Given the description of an element on the screen output the (x, y) to click on. 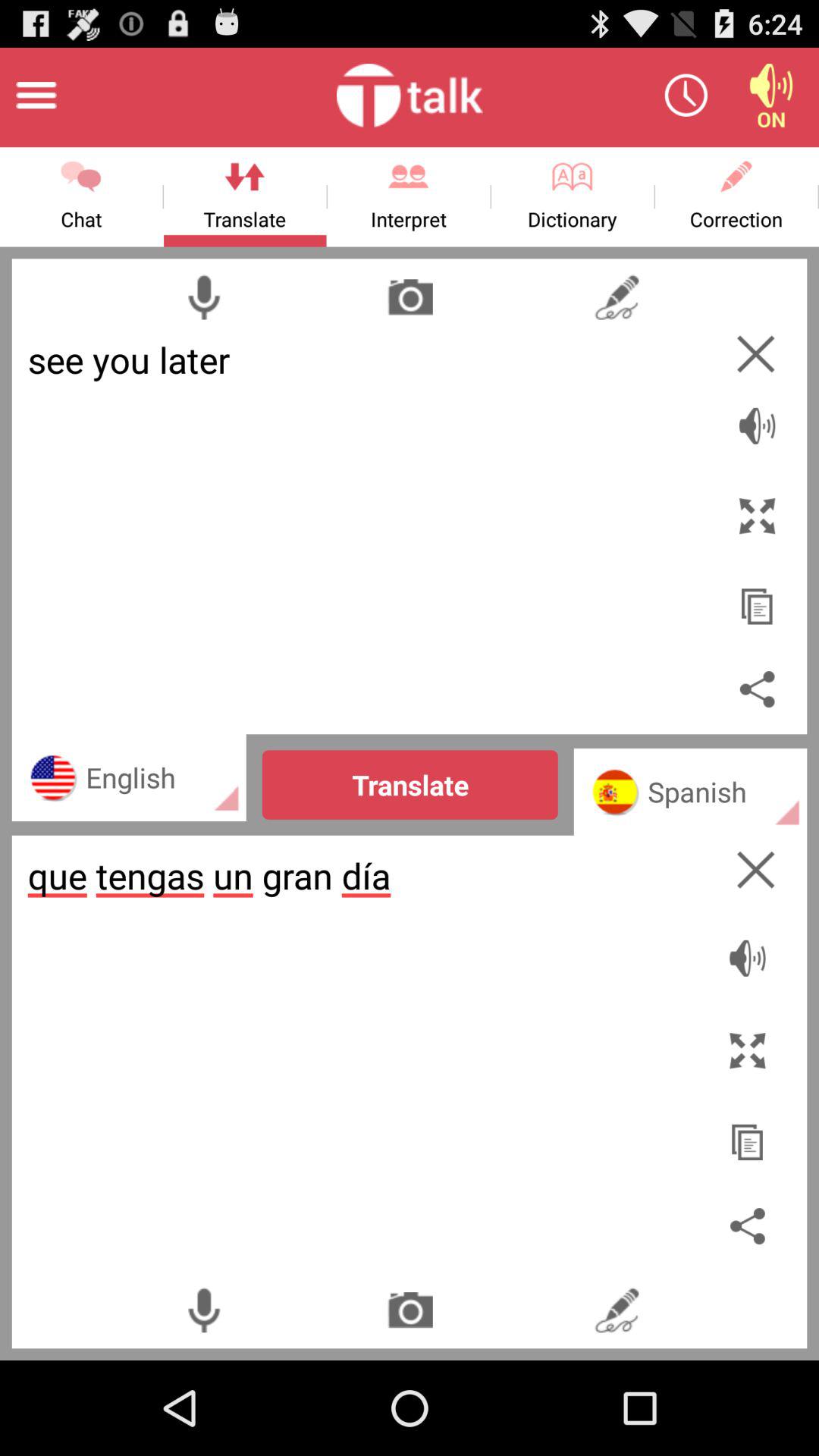
mute/un-mute audio toggle (750, 950)
